Given the description of an element on the screen output the (x, y) to click on. 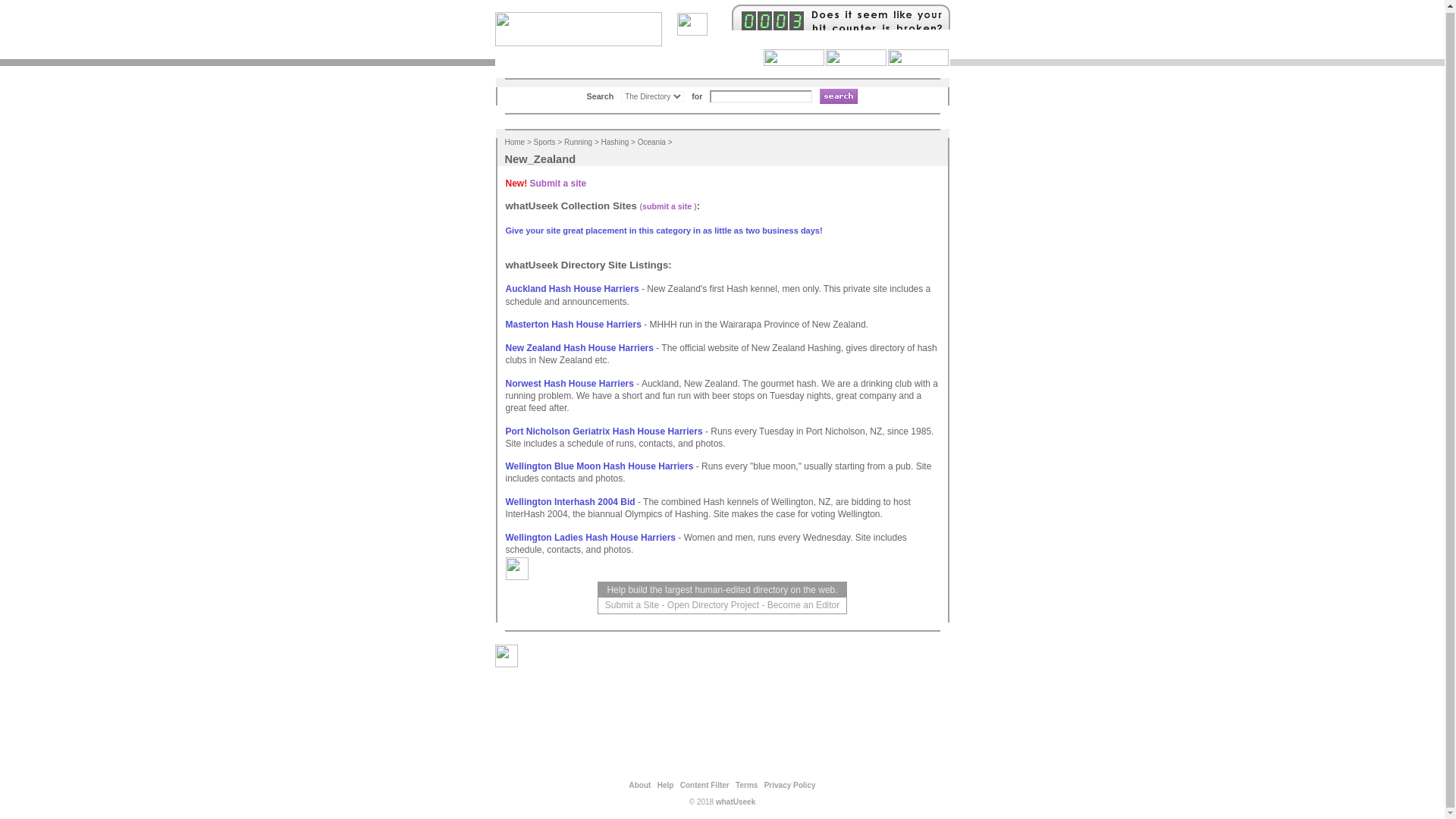
Wellington Interhash 2004 Bid (569, 501)
Home (515, 142)
Running (578, 142)
Open Directory Project (712, 604)
Port Nicholson Geriatrix Hash House Harriers (603, 430)
Submit a site (557, 183)
Wellington Blue Moon Hash House Harriers (599, 466)
New Zealand Hash House Harriers (578, 347)
Auckland Hash House Harriers (572, 288)
